Given the description of an element on the screen output the (x, y) to click on. 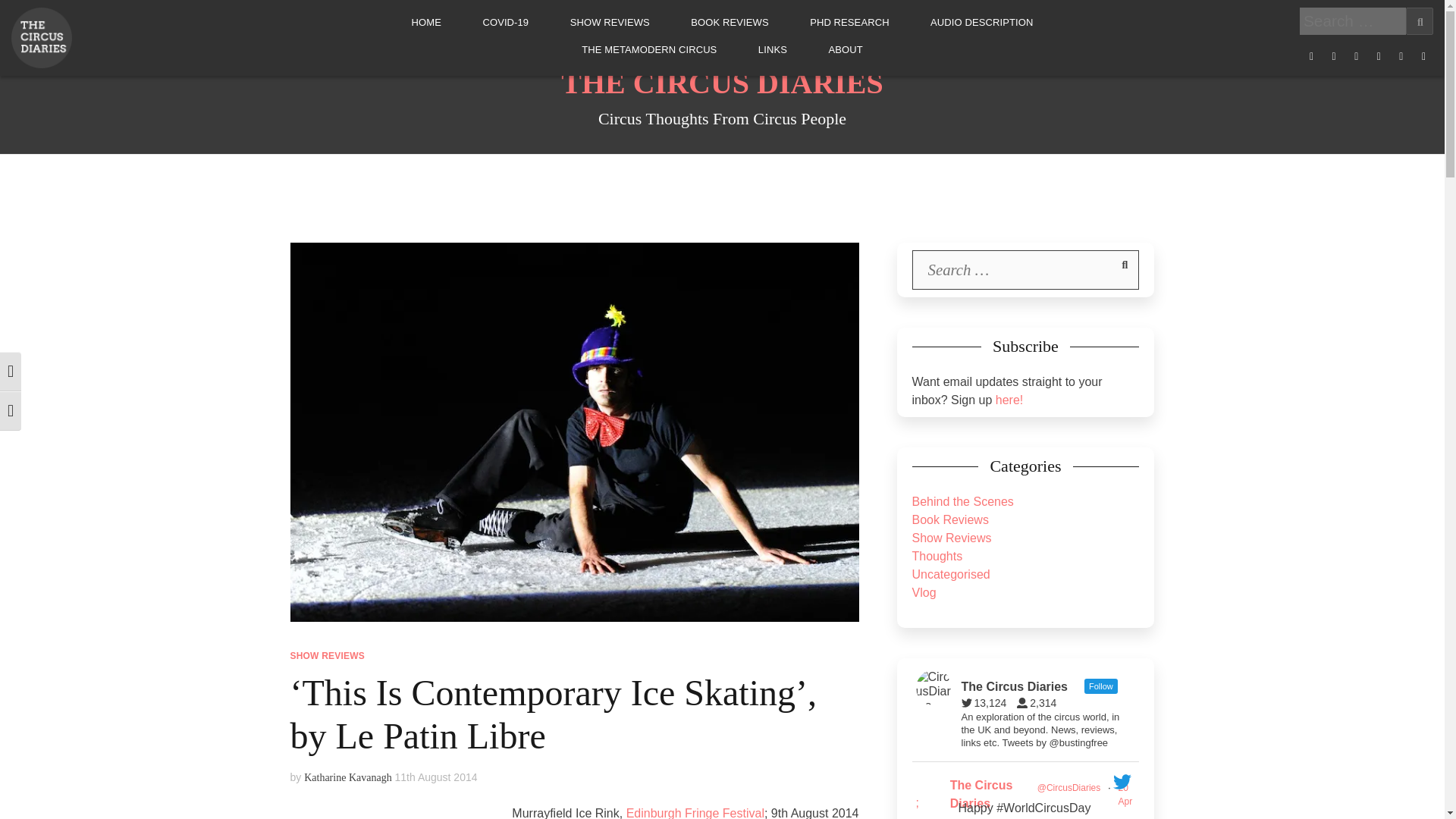
COVID-19 (505, 22)
SHOW REVIEWS (609, 22)
ABOUT (844, 49)
PHD RESEARCH (849, 22)
2,314 Followers (1040, 702)
SHOW REVIEWS (326, 655)
THE CIRCUS DIARIES (721, 82)
BOOK REVIEWS (729, 22)
AUDIO DESCRIPTION (981, 22)
LINKS (772, 49)
